Given the description of an element on the screen output the (x, y) to click on. 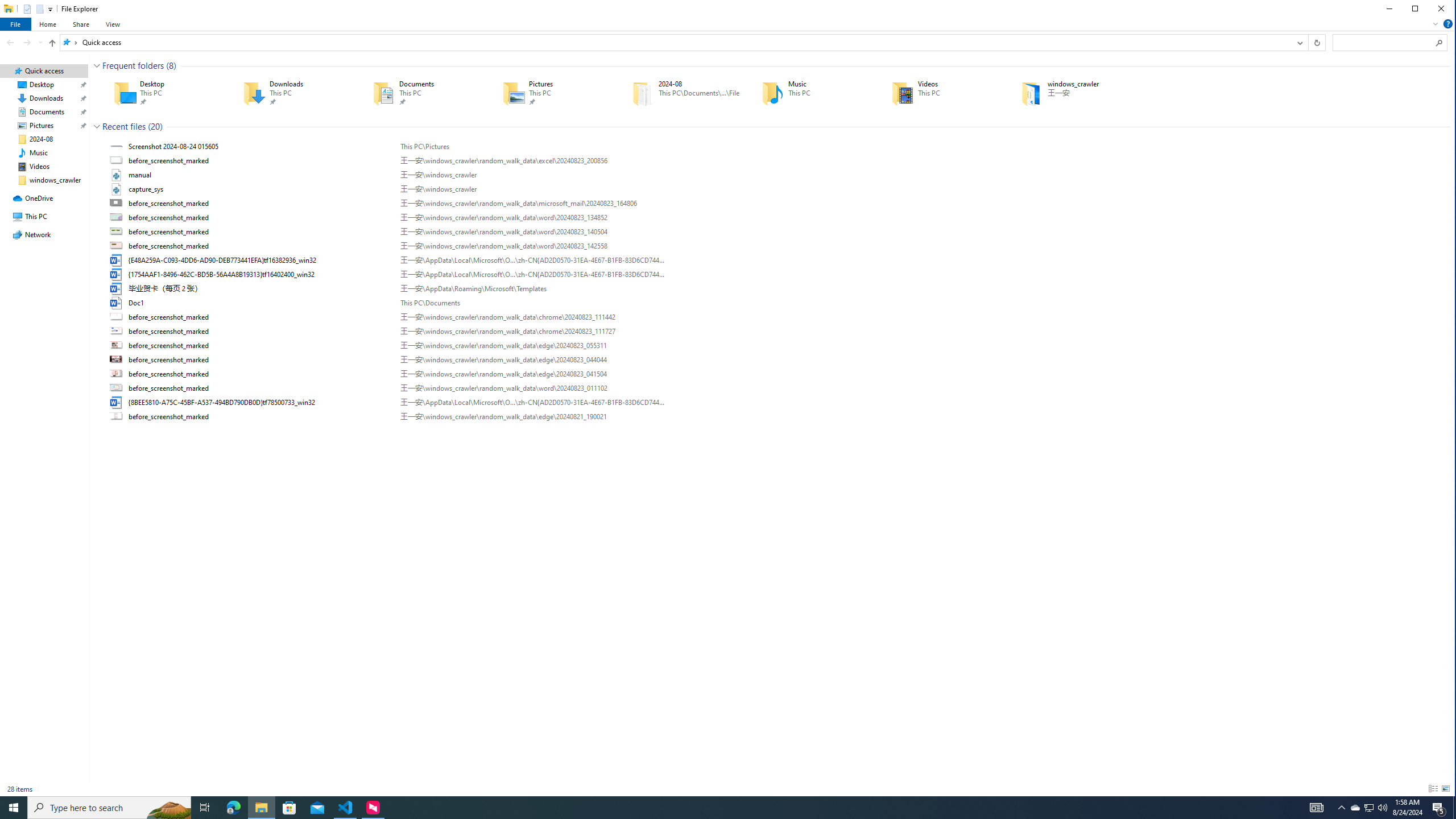
Search (1439, 42)
windows_crawler (1070, 93)
Desktop (162, 93)
Quick Access Toolbar (33, 8)
Help (1447, 24)
